Given the description of an element on the screen output the (x, y) to click on. 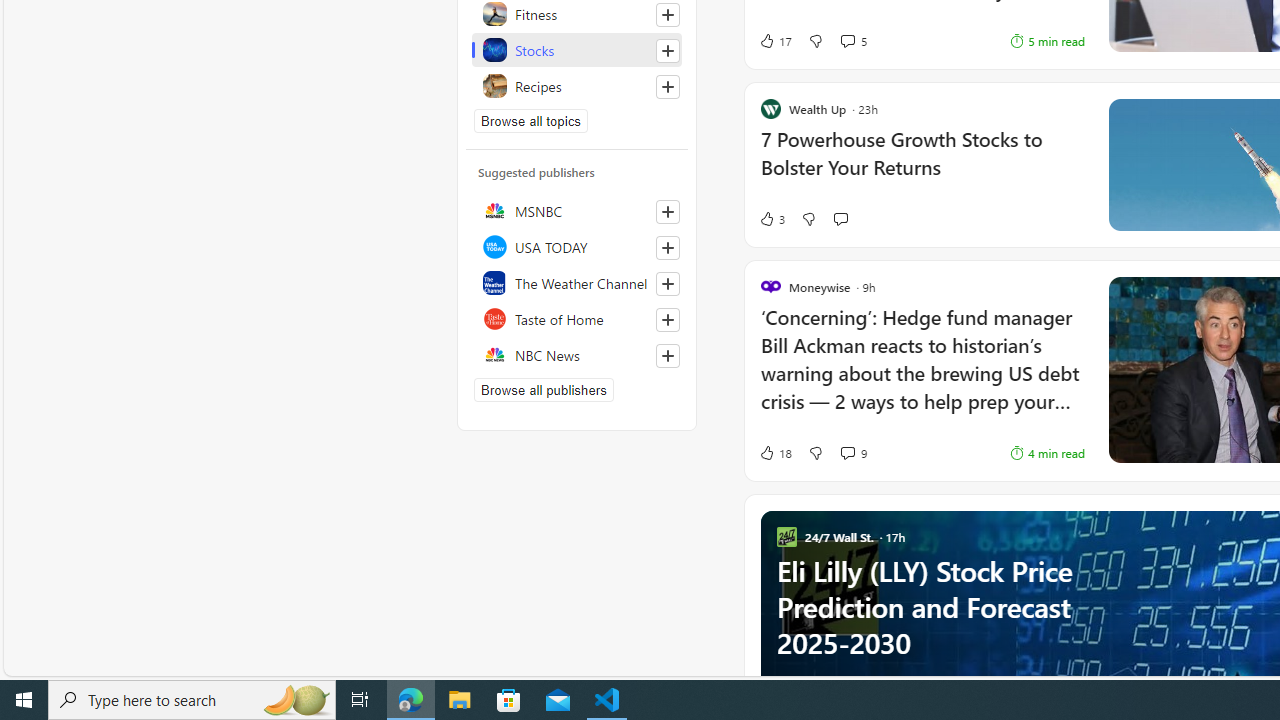
View comments 5 Comment (852, 40)
3 Like (771, 219)
Taste of Home (577, 318)
The Weather Channel (577, 282)
Follow this source (667, 355)
View comments 5 Comment (847, 40)
Stocks (577, 49)
NBC News (577, 354)
View comments 9 Comment (852, 452)
Browse all publishers (543, 389)
17 Like (775, 40)
Follow this source (667, 355)
Browse all topics (530, 120)
